Given the description of an element on the screen output the (x, y) to click on. 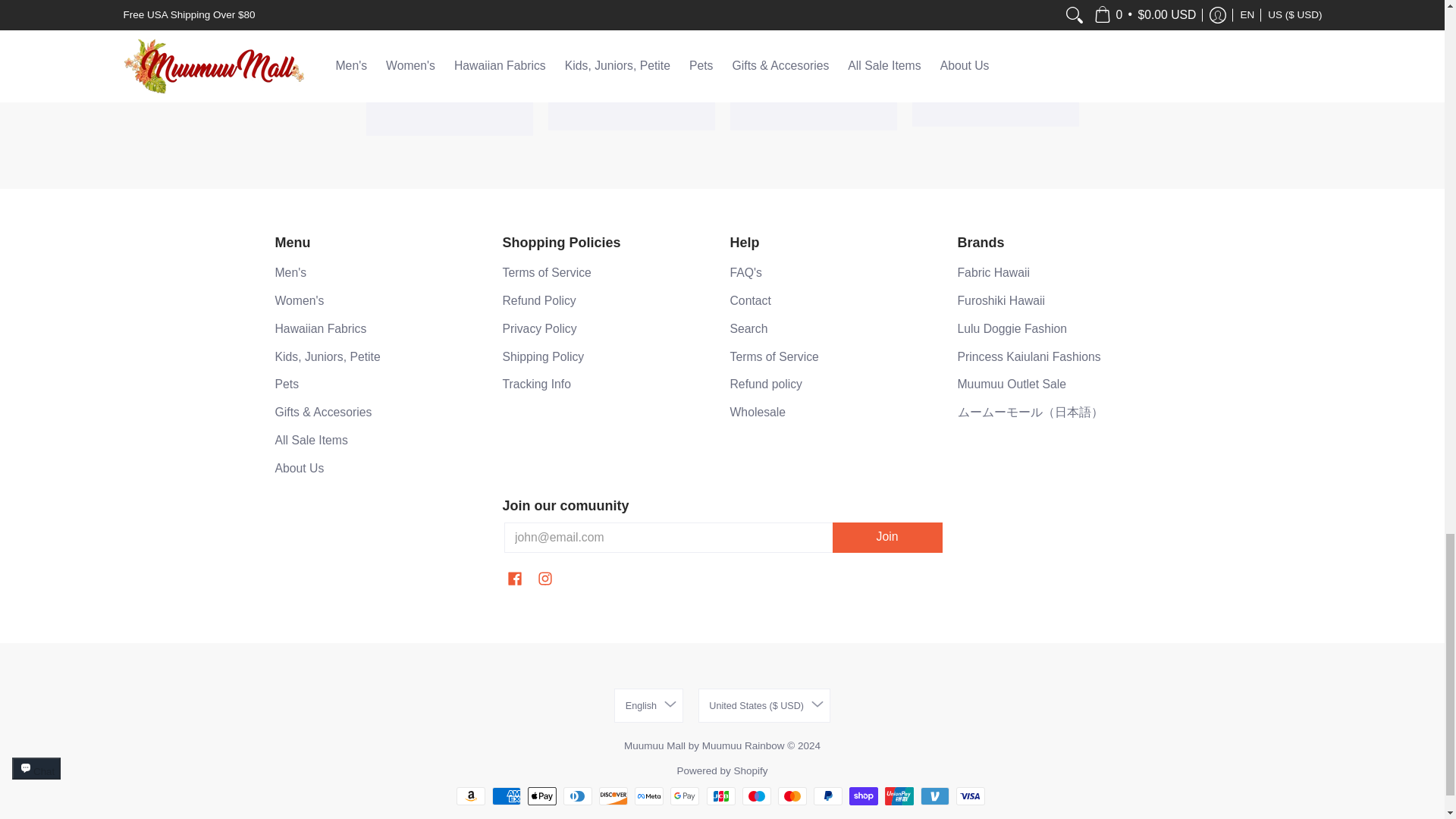
Maestro (756, 796)
Discover (612, 796)
Meta Pay (648, 796)
Diners Club (577, 796)
Amazon (470, 796)
American Express (506, 796)
Apple Pay (541, 796)
JCB (720, 796)
Google Pay (683, 796)
